Given the description of an element on the screen output the (x, y) to click on. 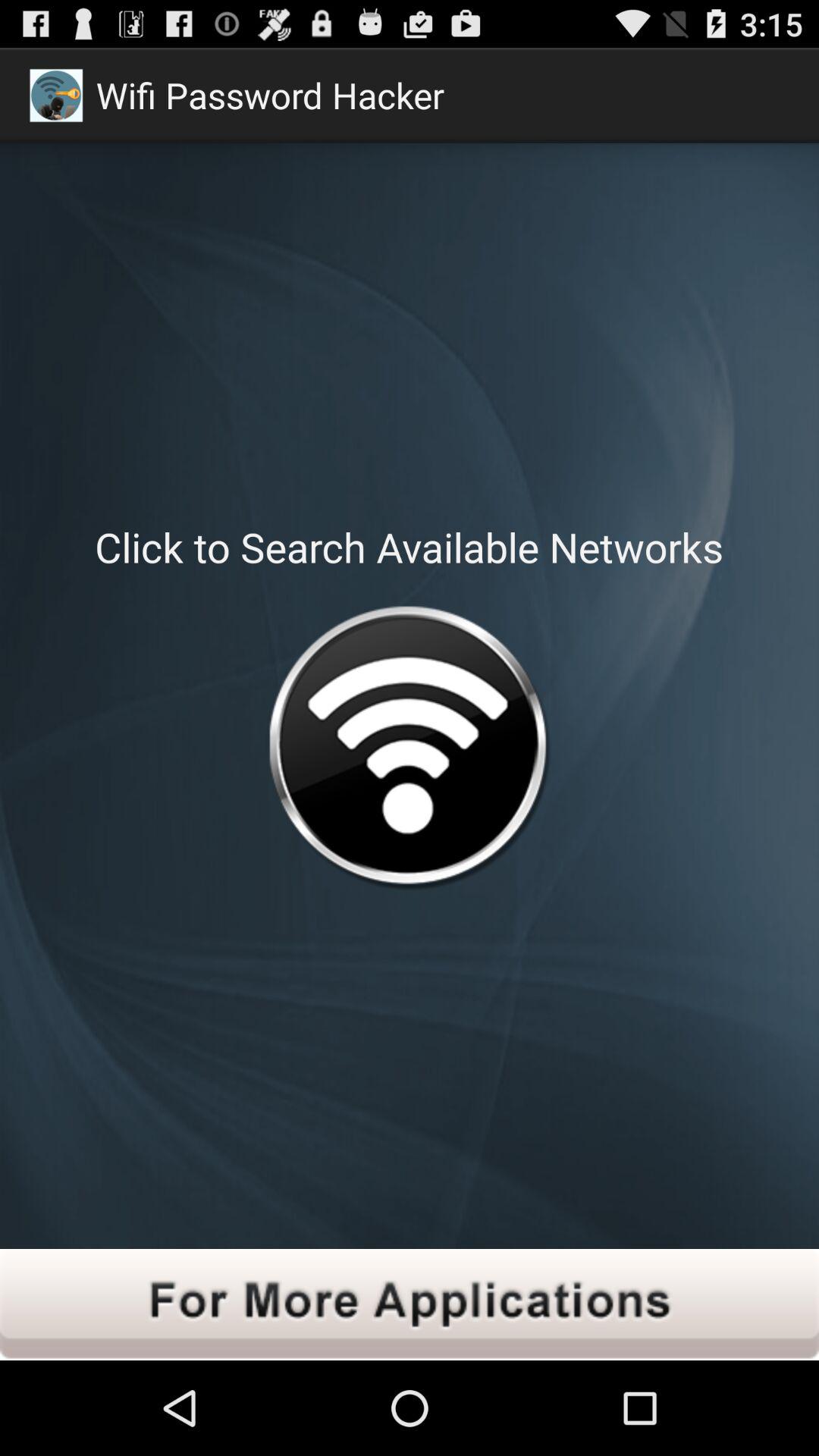
choose the item at the bottom (409, 1304)
